Given the description of an element on the screen output the (x, y) to click on. 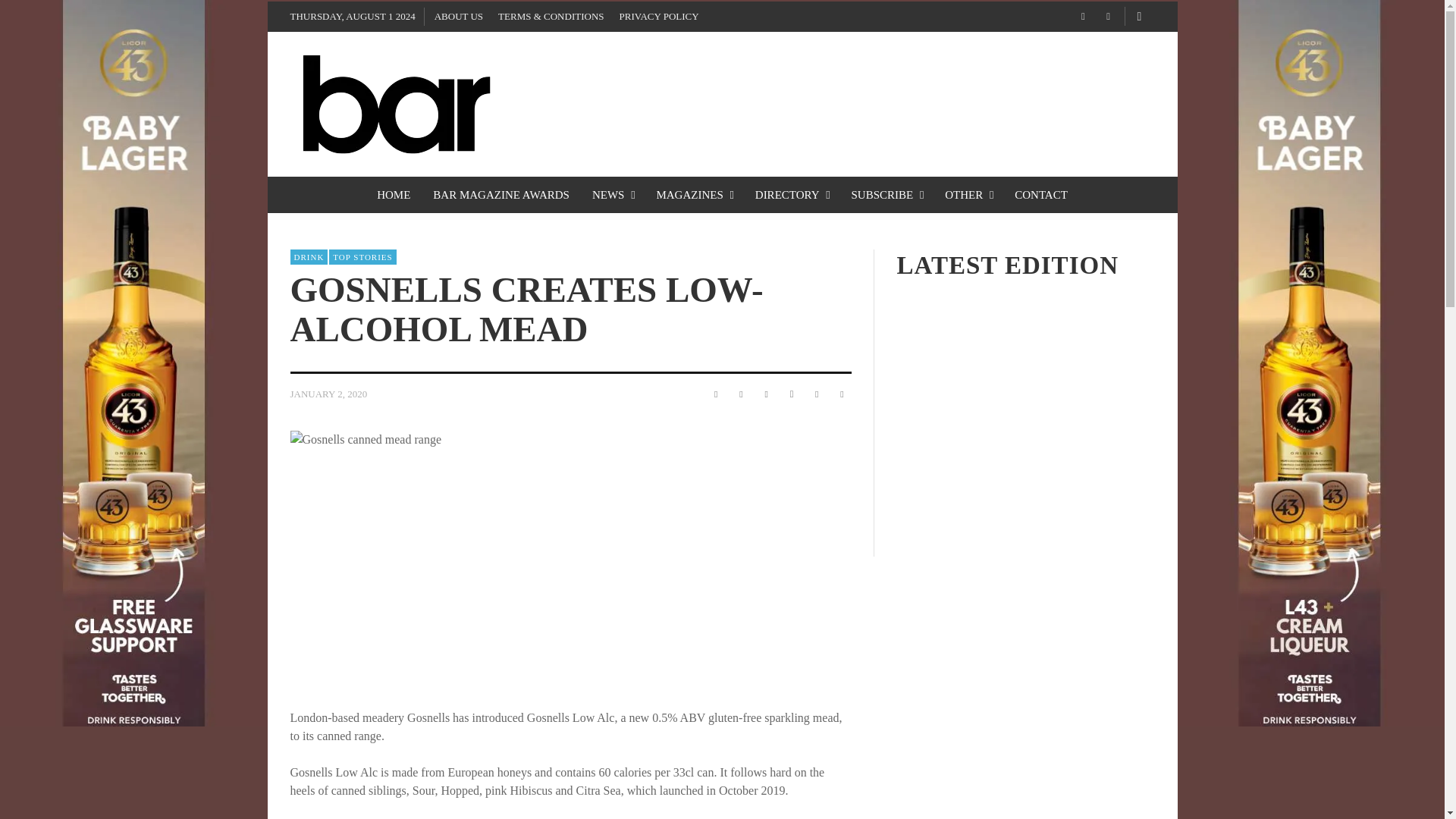
View all posts in Drink (308, 256)
View all posts in Top Stories (362, 256)
NEWS (612, 194)
MAGAZINES (693, 194)
Permalink to Gosnells creates low-alcohol mead (327, 393)
ABOUT US (458, 16)
PRIVACY POLICY (658, 16)
BAR MAGAZINE AWARDS (501, 194)
HOME (393, 194)
